Given the description of an element on the screen output the (x, y) to click on. 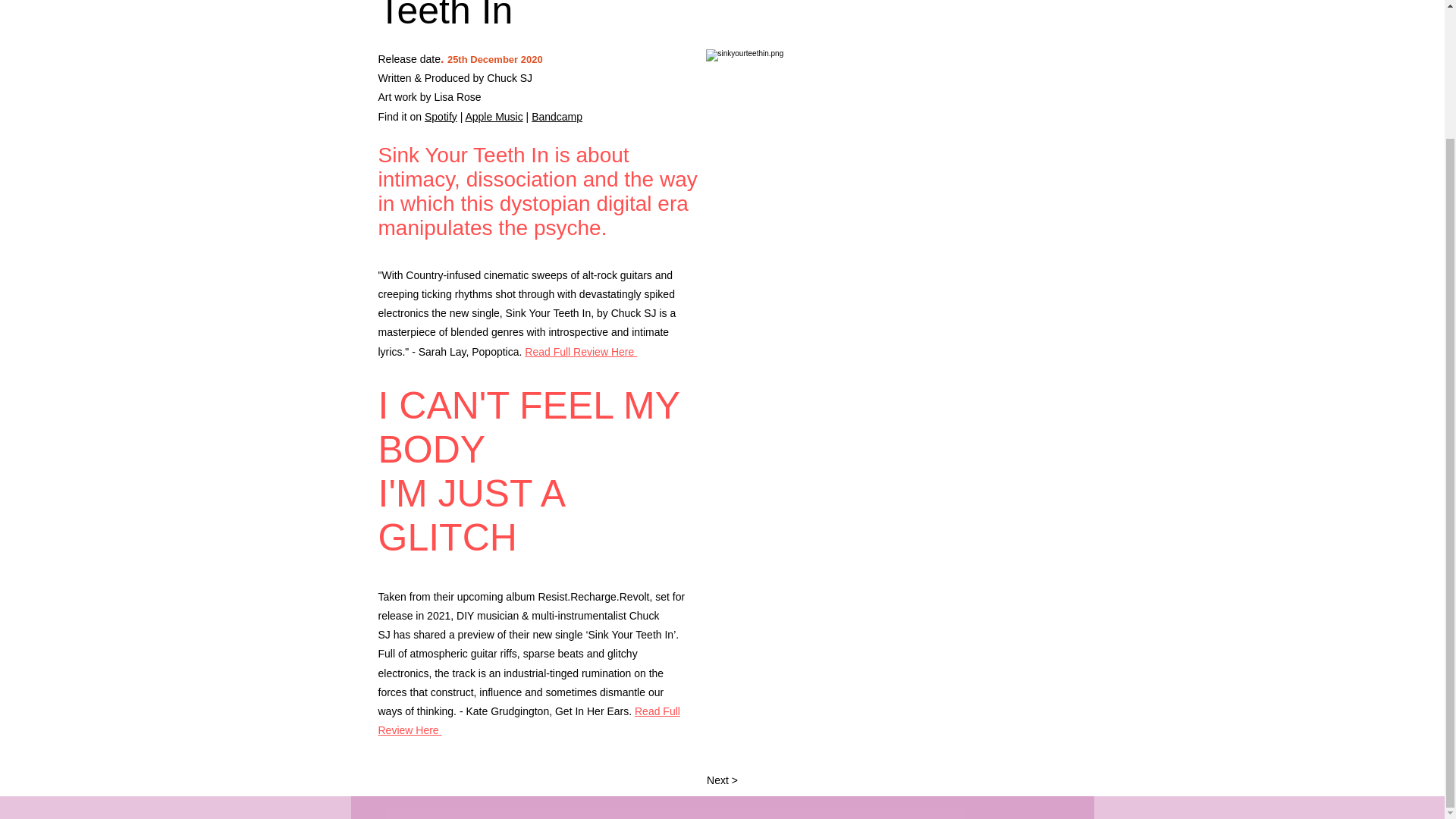
Read Full Review Here  (528, 720)
Read Full Review Here  (580, 350)
Bandcamp (556, 116)
Spotify (441, 116)
Apple Music (493, 116)
